Given the description of an element on the screen output the (x, y) to click on. 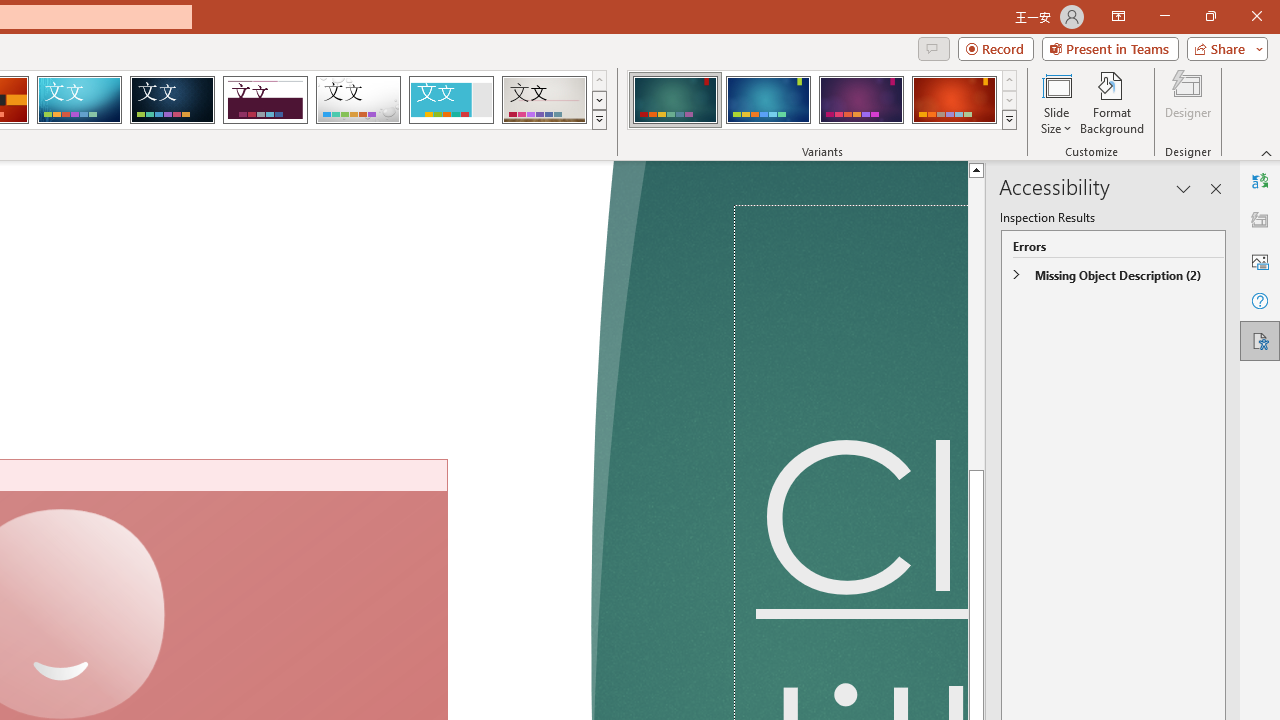
Circuit (79, 100)
Damask (171, 100)
Accessibility (1260, 340)
Translator (1260, 180)
AutomationID: ThemeVariantsGallery (822, 99)
